Given the description of an element on the screen output the (x, y) to click on. 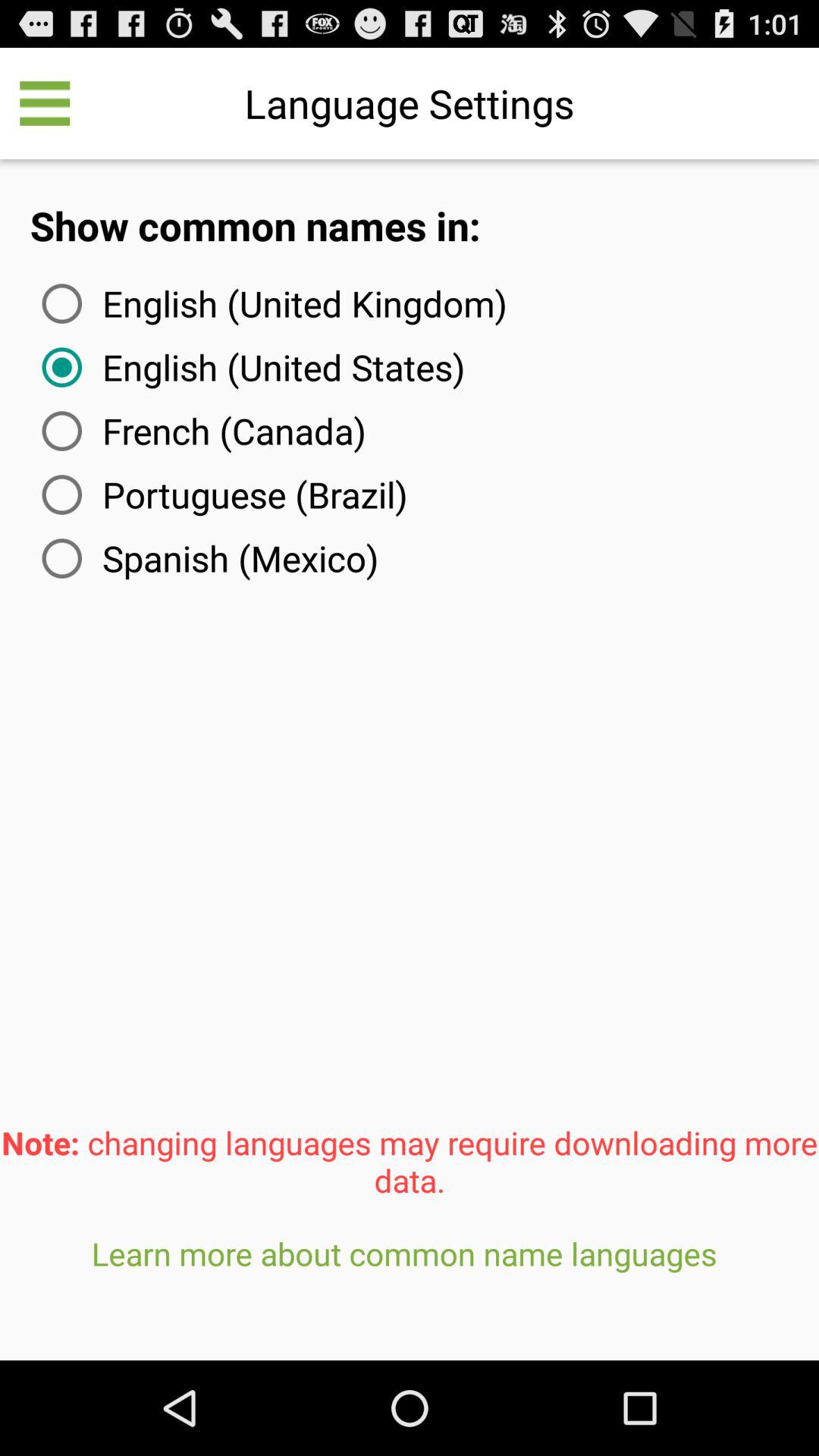
press the item below the english (united states) (200, 430)
